Given the description of an element on the screen output the (x, y) to click on. 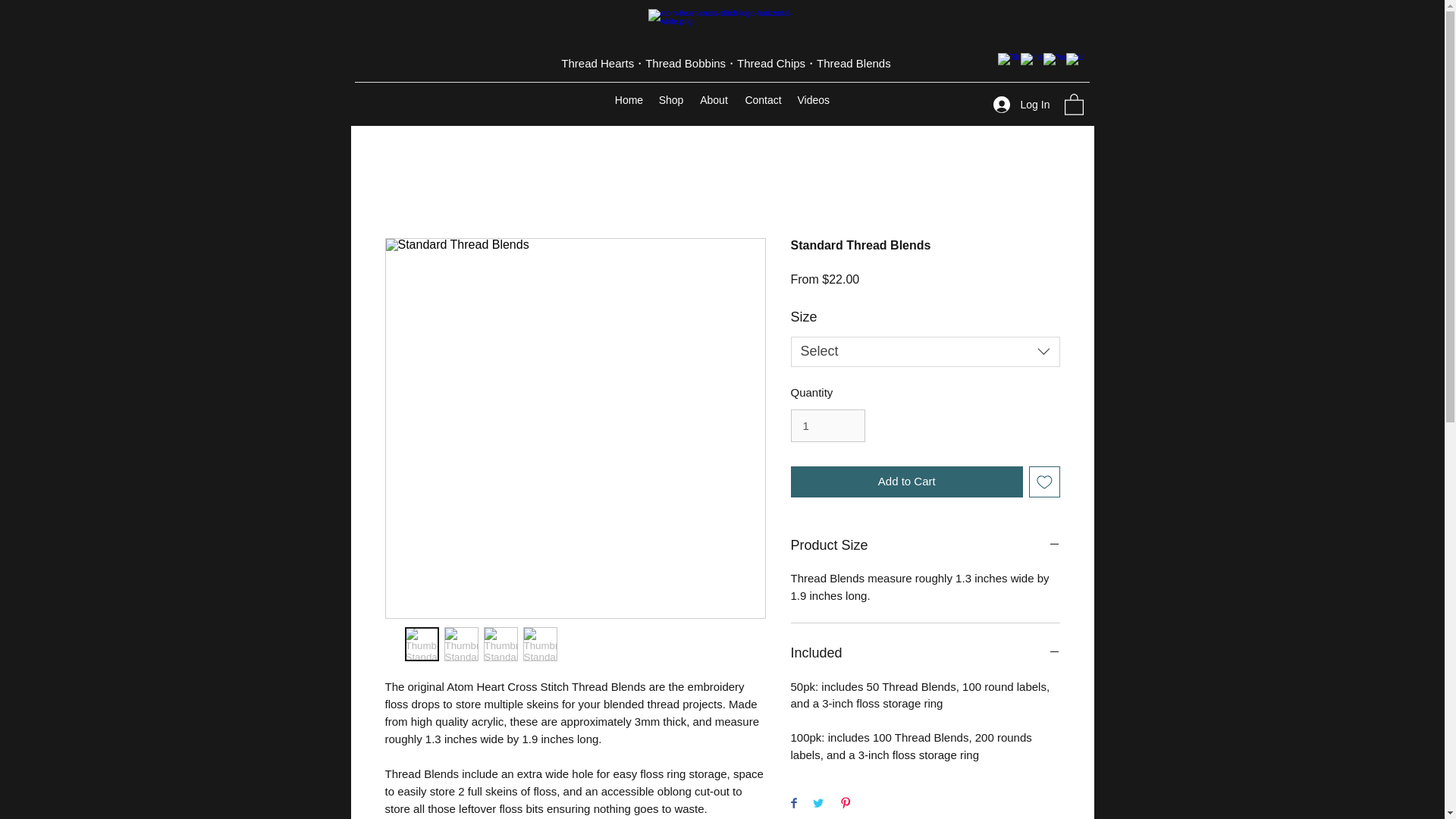
About (713, 100)
Shop (670, 100)
Log In (1017, 104)
Select (924, 351)
Add to Cart (906, 481)
Included (924, 653)
1 (827, 426)
Product Size (924, 545)
Home (628, 100)
Videos (813, 100)
